Given the description of an element on the screen output the (x, y) to click on. 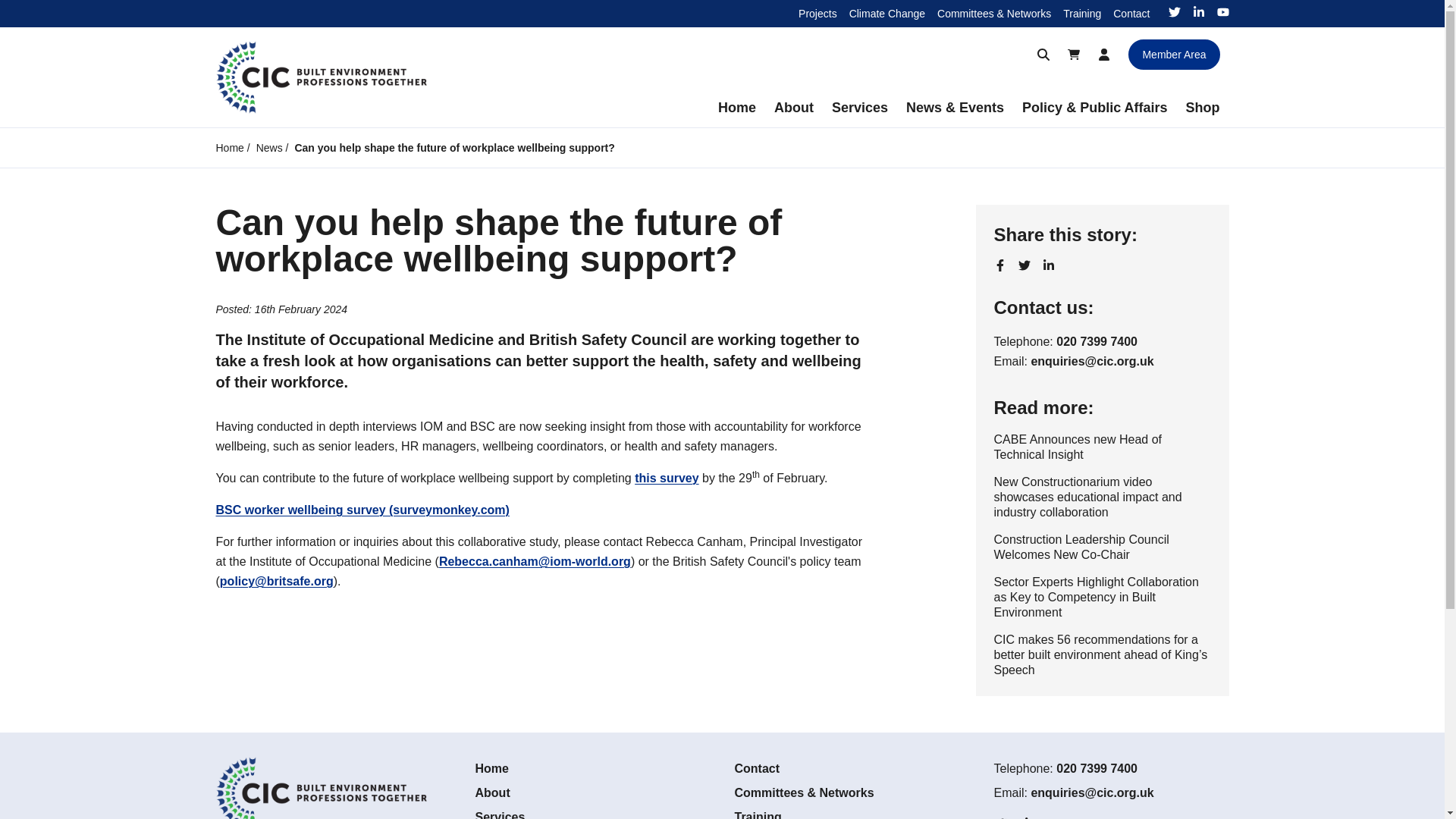
Member Area (1174, 54)
Cart (1073, 54)
Contact (1131, 13)
My Account (1103, 54)
Climate Change (886, 13)
Share on Facebook (999, 265)
Search (1042, 54)
Home (737, 107)
Share on Twitter (1023, 265)
Share on LinkedIn (1048, 265)
